Given the description of an element on the screen output the (x, y) to click on. 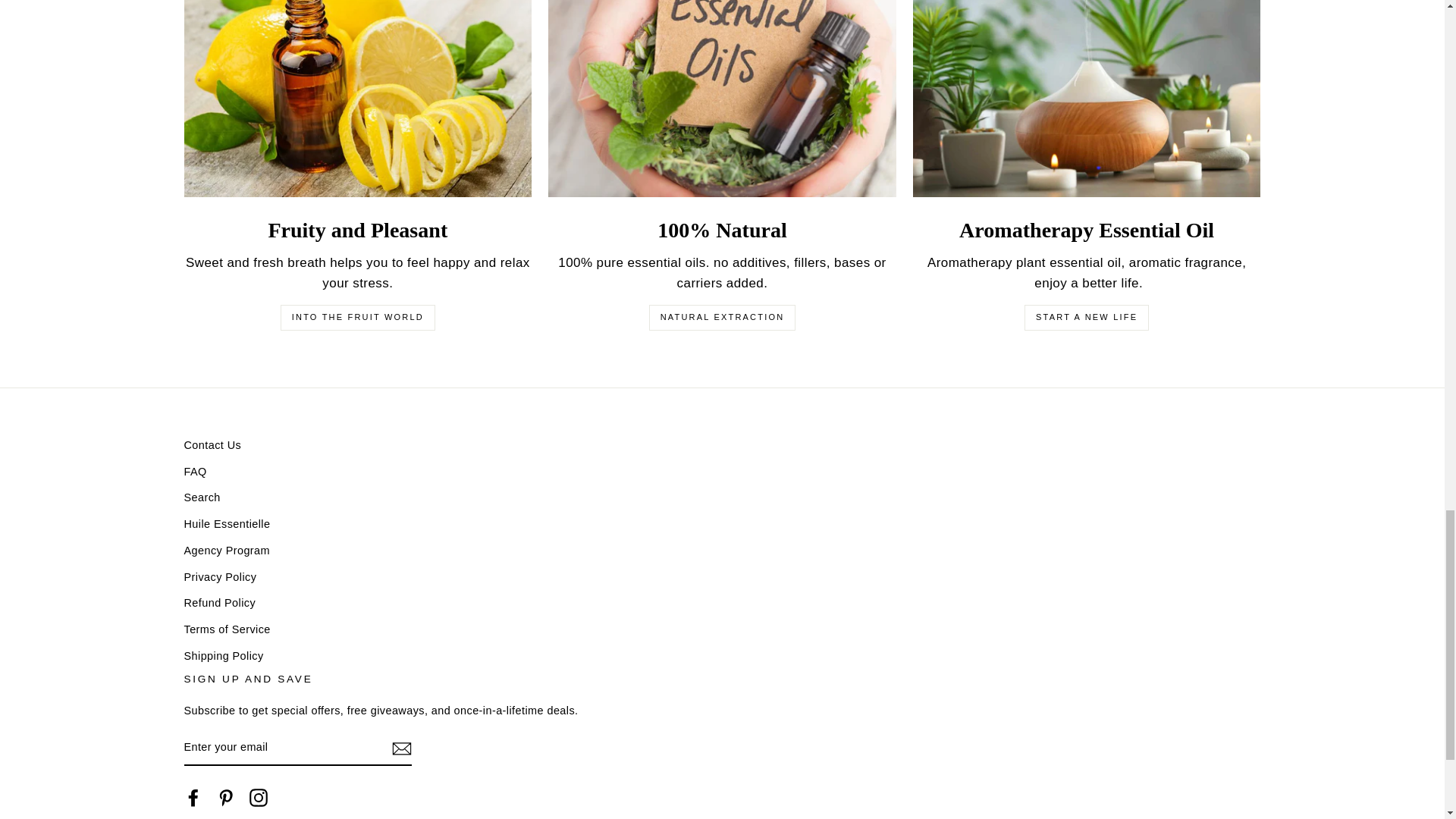
RainbowAbby 2013 on Instagram (257, 797)
RainbowAbby 2013 on Facebook (192, 797)
RainbowAbby 2013 on Pinterest (225, 797)
